Given the description of an element on the screen output the (x, y) to click on. 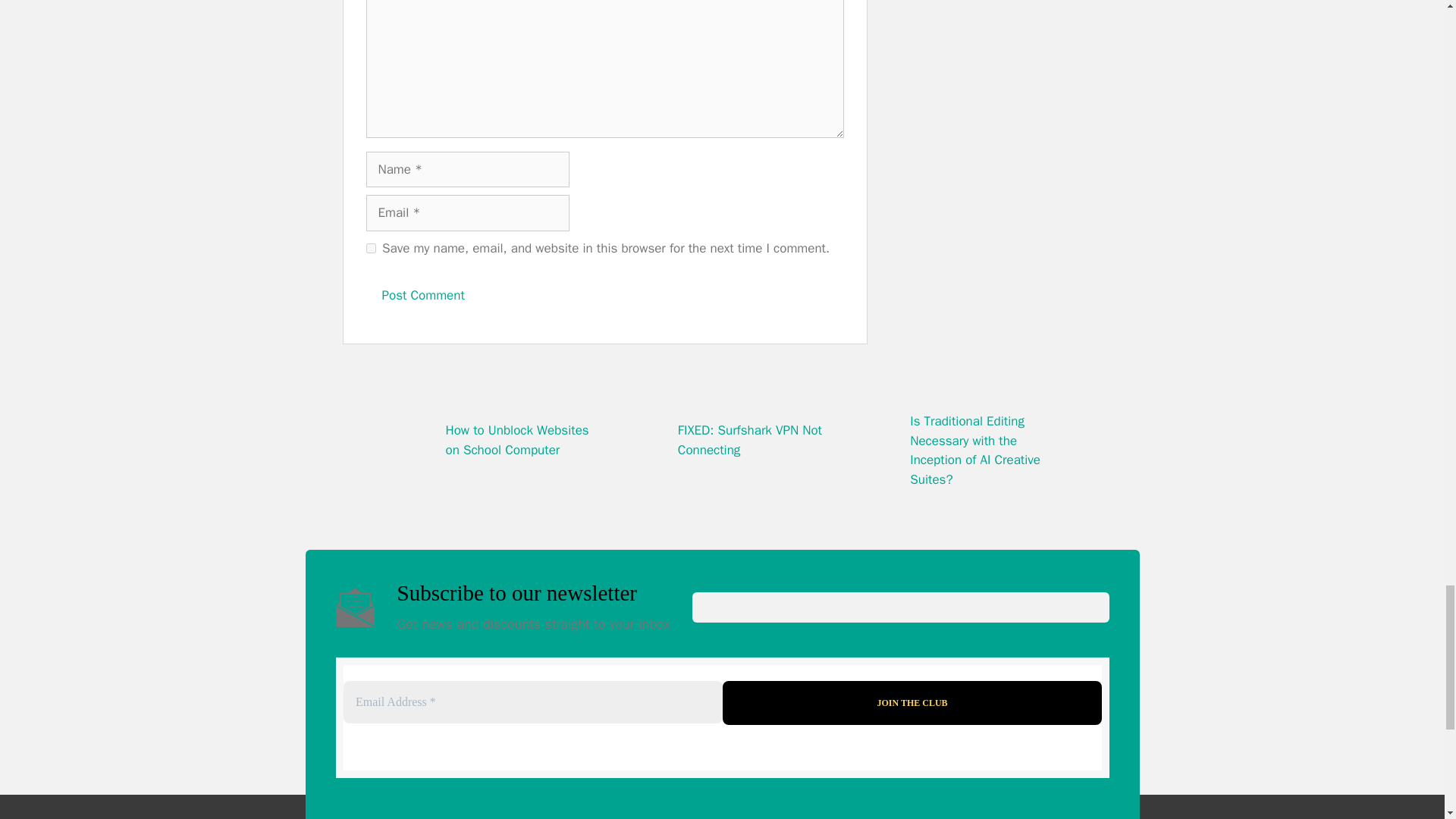
yes (370, 248)
Post Comment (422, 295)
Email Address (532, 701)
JOIN THE CLUB (911, 702)
